Given the description of an element on the screen output the (x, y) to click on. 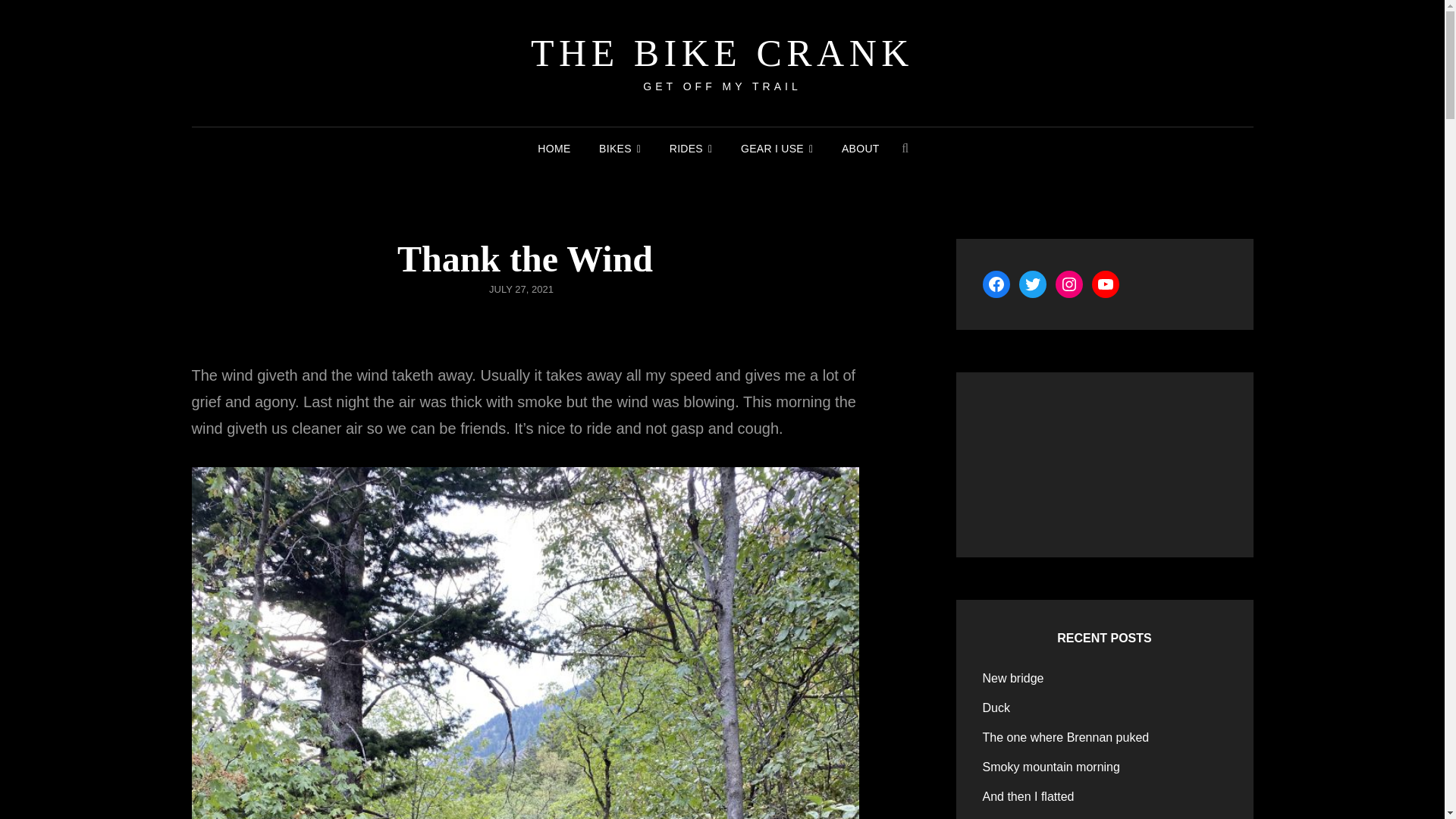
ABOUT (860, 148)
JULY 27, 2021 (521, 288)
THE BIKE CRANK (722, 52)
RIDES (691, 148)
SEARCH (905, 147)
GEAR I USE (777, 148)
HOME (553, 148)
BIKES (619, 148)
